Given the description of an element on the screen output the (x, y) to click on. 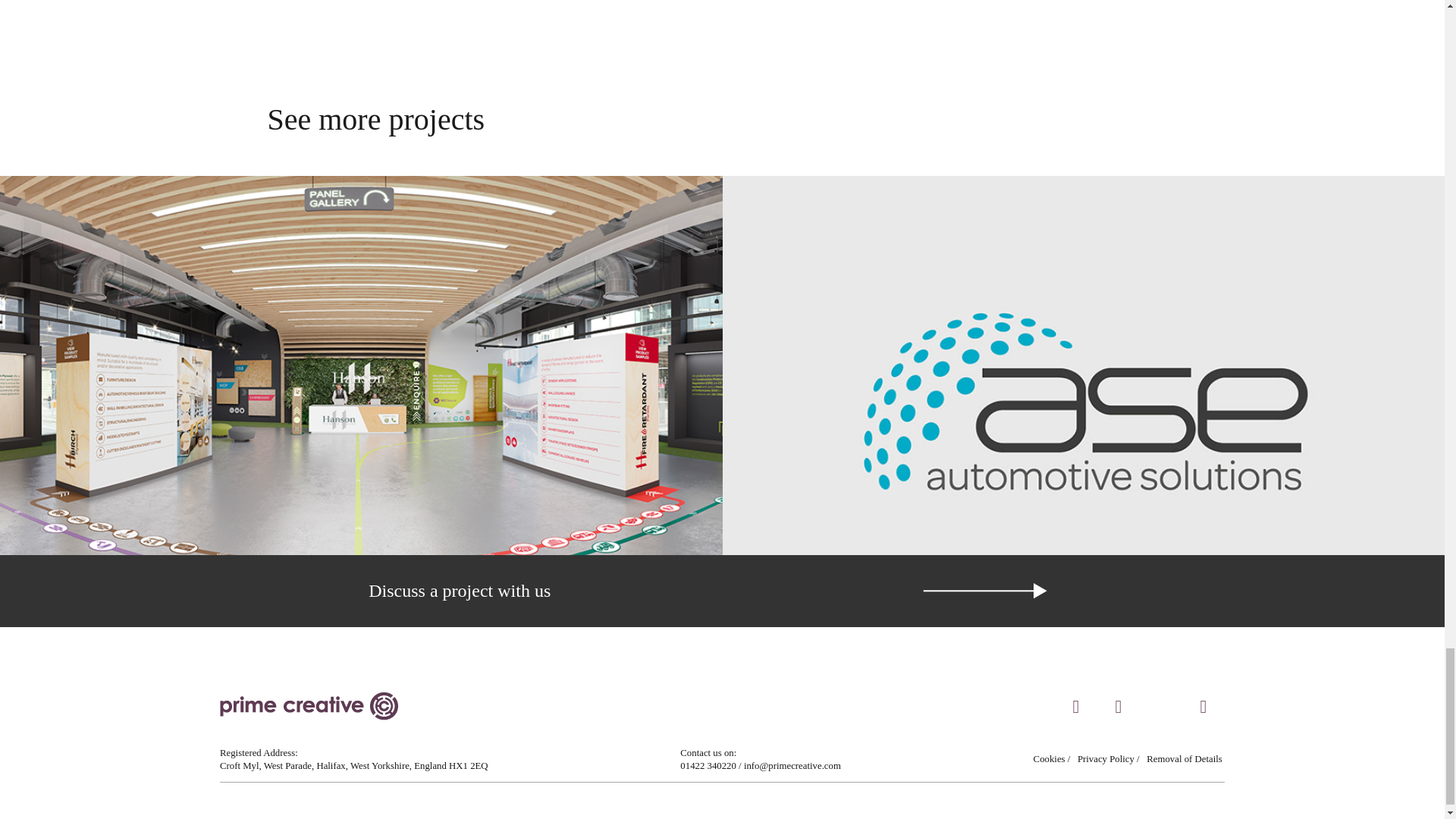
01422 340220 (707, 771)
Removal of Details  (1185, 758)
